Given the description of an element on the screen output the (x, y) to click on. 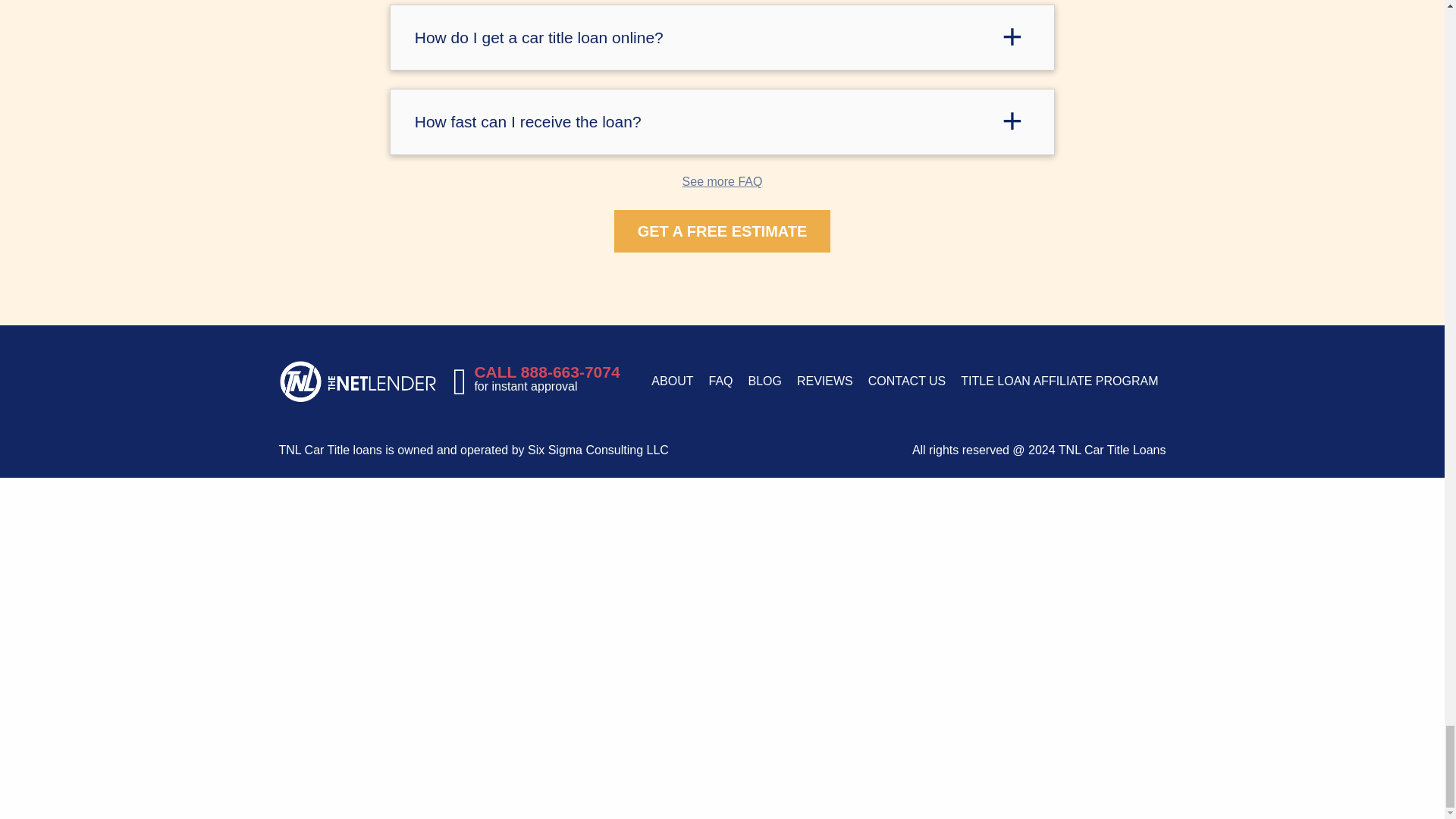
How fast can I receive the loan? (722, 121)
See more FAQ (722, 181)
GET A FREE ESTIMATE (722, 230)
FAQ (719, 381)
How do I get a car title loan online? (722, 36)
CALL 888-663-7074 (547, 371)
ABOUT (671, 381)
